Given the description of an element on the screen output the (x, y) to click on. 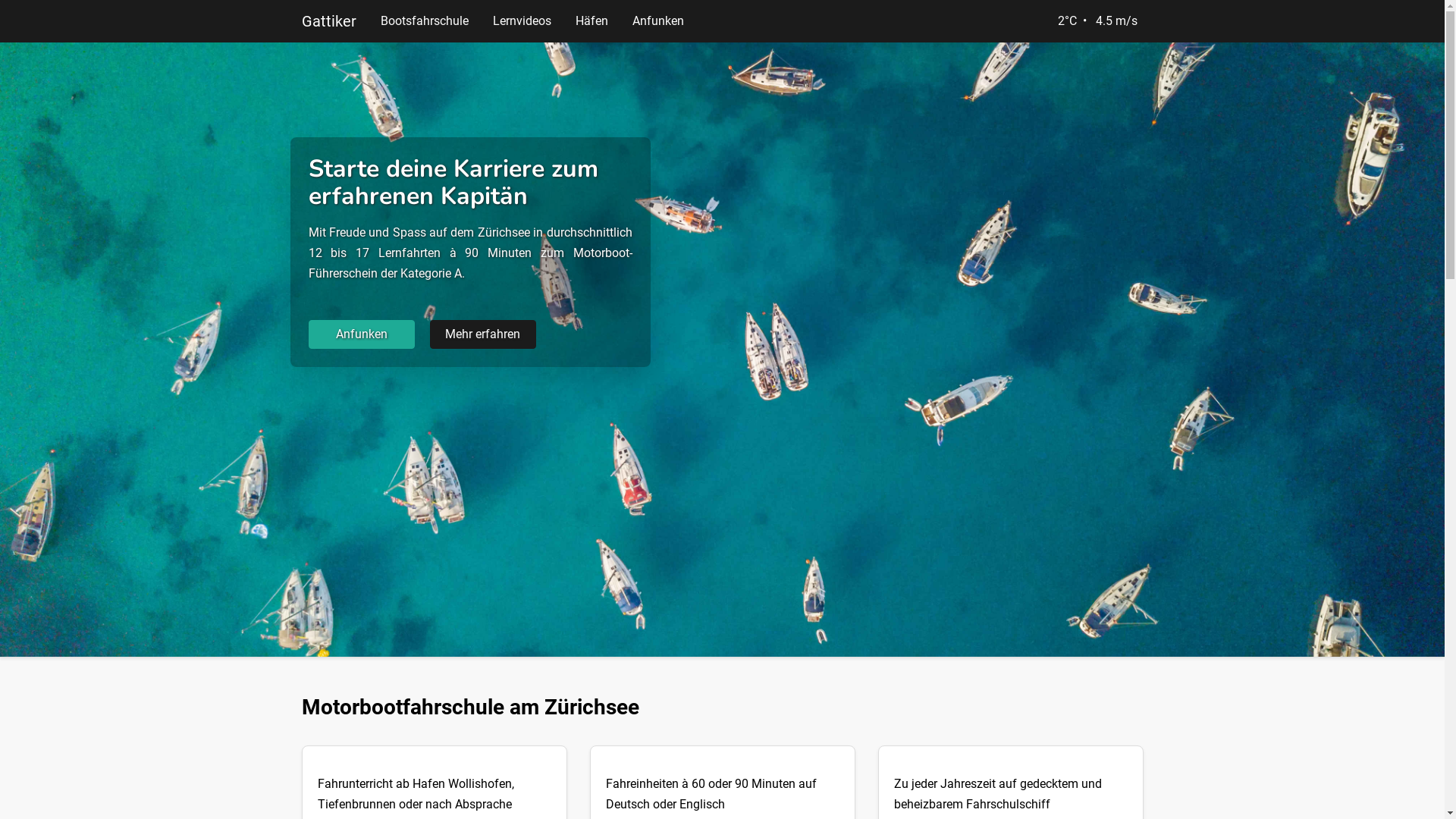
Lernvideos Element type: text (521, 21)
Anfunken Element type: text (360, 334)
Gattiker Element type: text (328, 21)
Mehr erfahren Element type: text (482, 334)
Bootsfahrschule Element type: text (424, 21)
Anfunken Element type: text (658, 21)
